Given the description of an element on the screen output the (x, y) to click on. 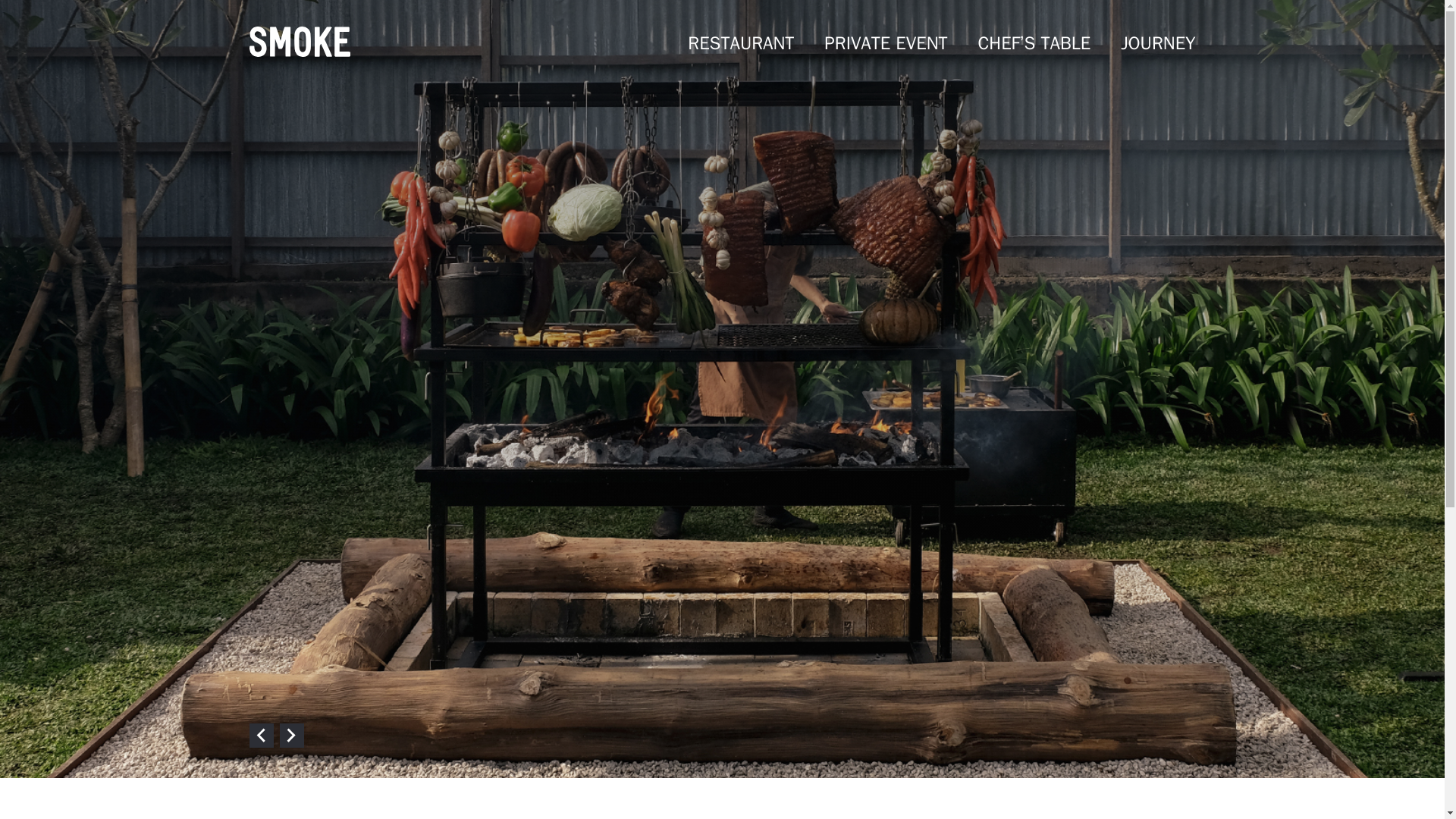
JOURNEY (1158, 43)
PRIVATE EVENT (885, 43)
RESTAURANT (740, 43)
